Given the description of an element on the screen output the (x, y) to click on. 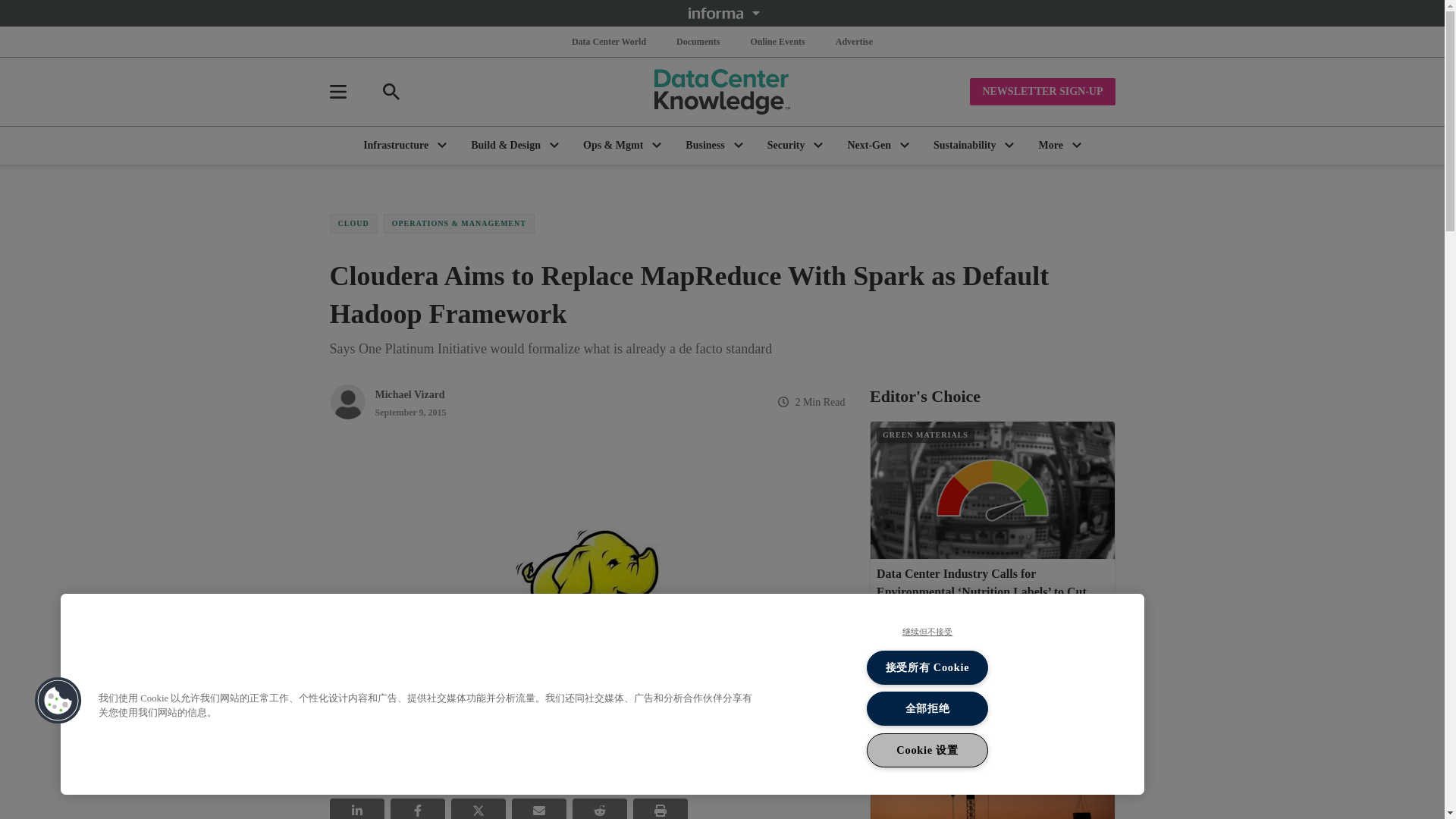
Documents (697, 41)
Data Center Knowledge Logo (721, 91)
Advertise (854, 41)
NEWSLETTER SIGN-UP (1042, 90)
Online Events (777, 41)
Data Center World (609, 41)
Picture of Michael Vizard (347, 402)
Cookies Button (57, 700)
